Given the description of an element on the screen output the (x, y) to click on. 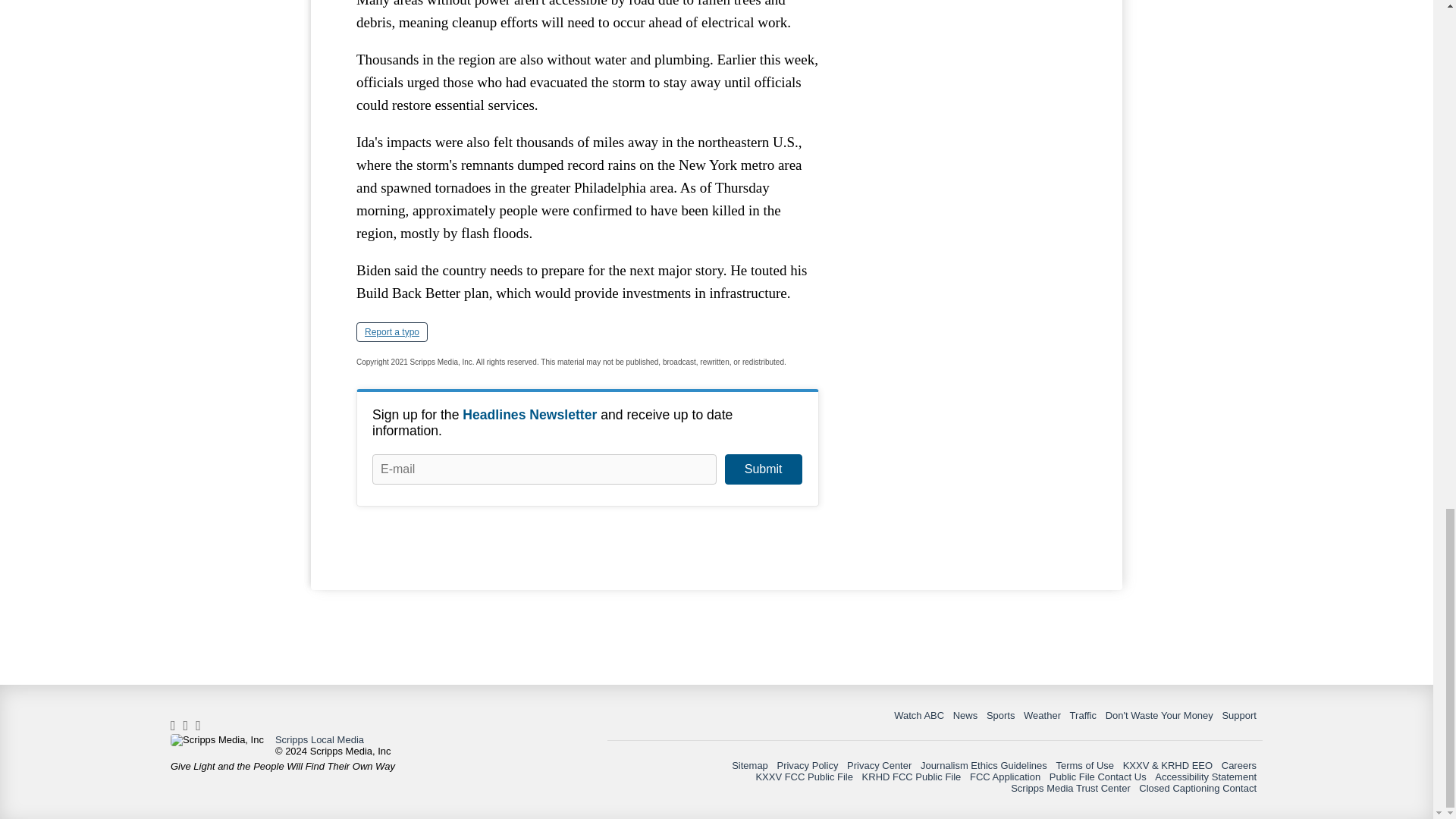
Submit (763, 469)
